Given the description of an element on the screen output the (x, y) to click on. 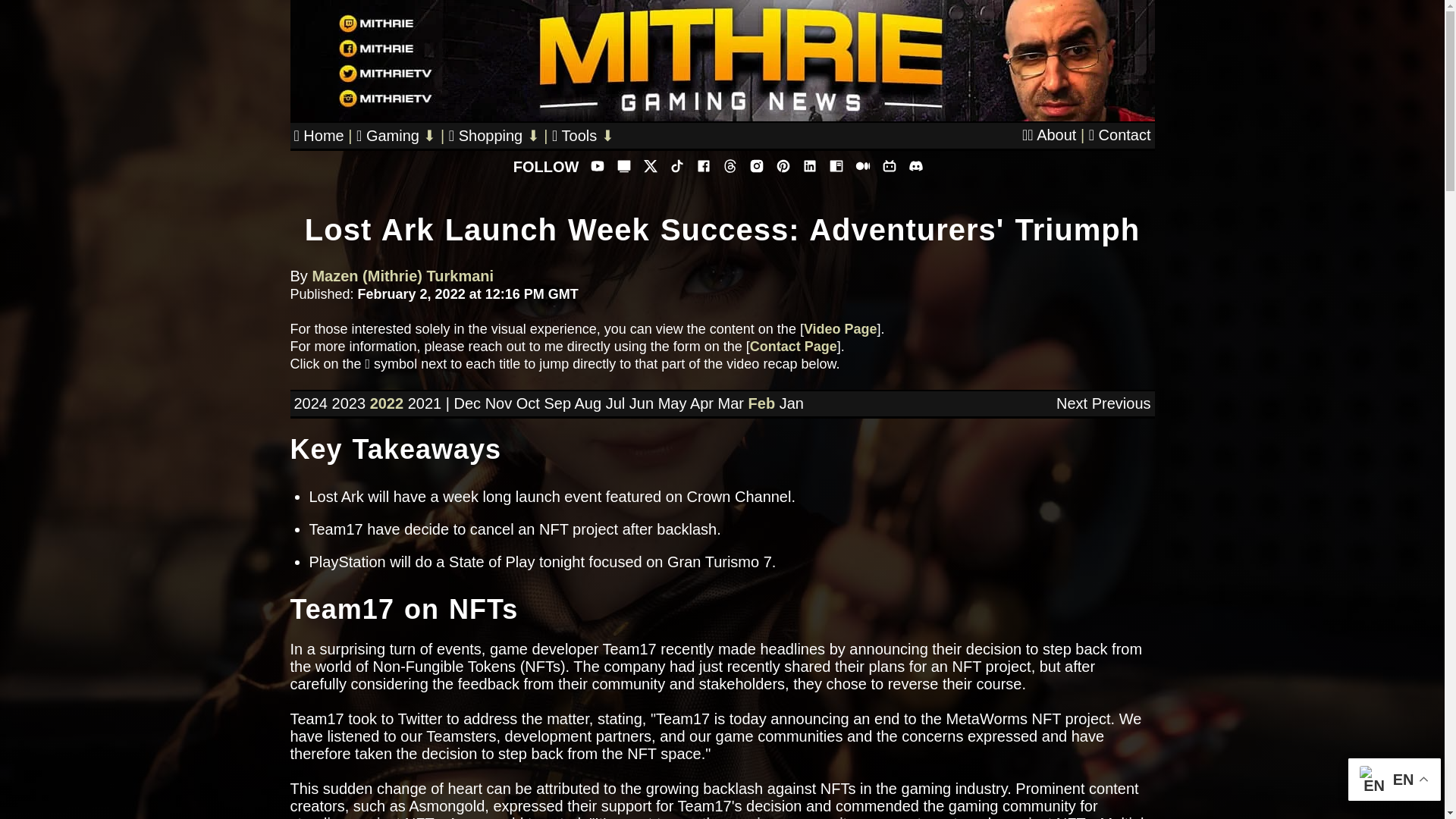
2021 (424, 402)
Contact Page (793, 346)
2024 (311, 402)
2023 (348, 402)
Dec (466, 402)
Video Page (840, 328)
